Given the description of an element on the screen output the (x, y) to click on. 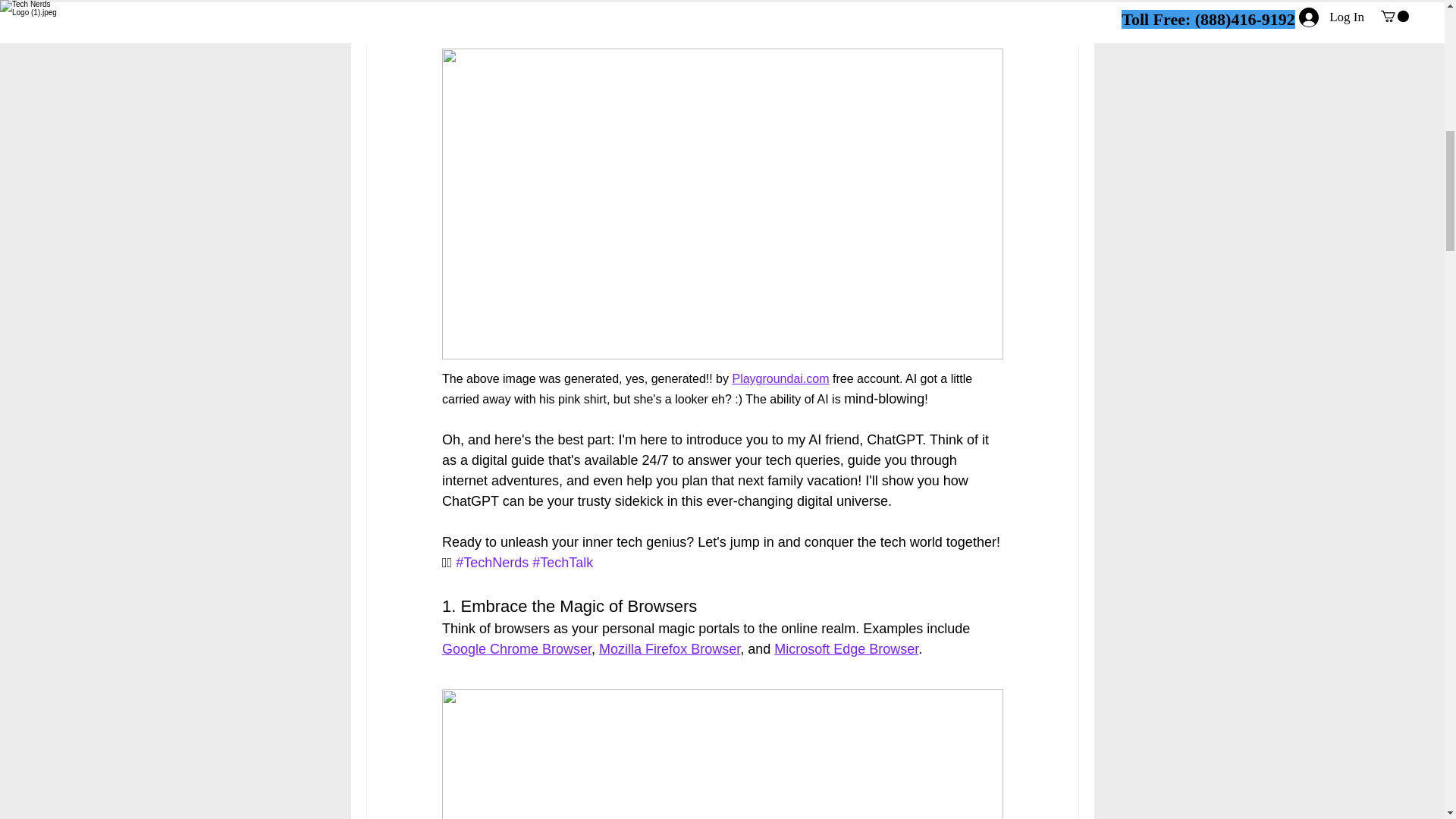
Microsoft Edge Browser (846, 648)
Mozilla Firefox Browser (668, 648)
Google Chrome Browser (516, 648)
Playgroundai.com (780, 378)
